Given the description of an element on the screen output the (x, y) to click on. 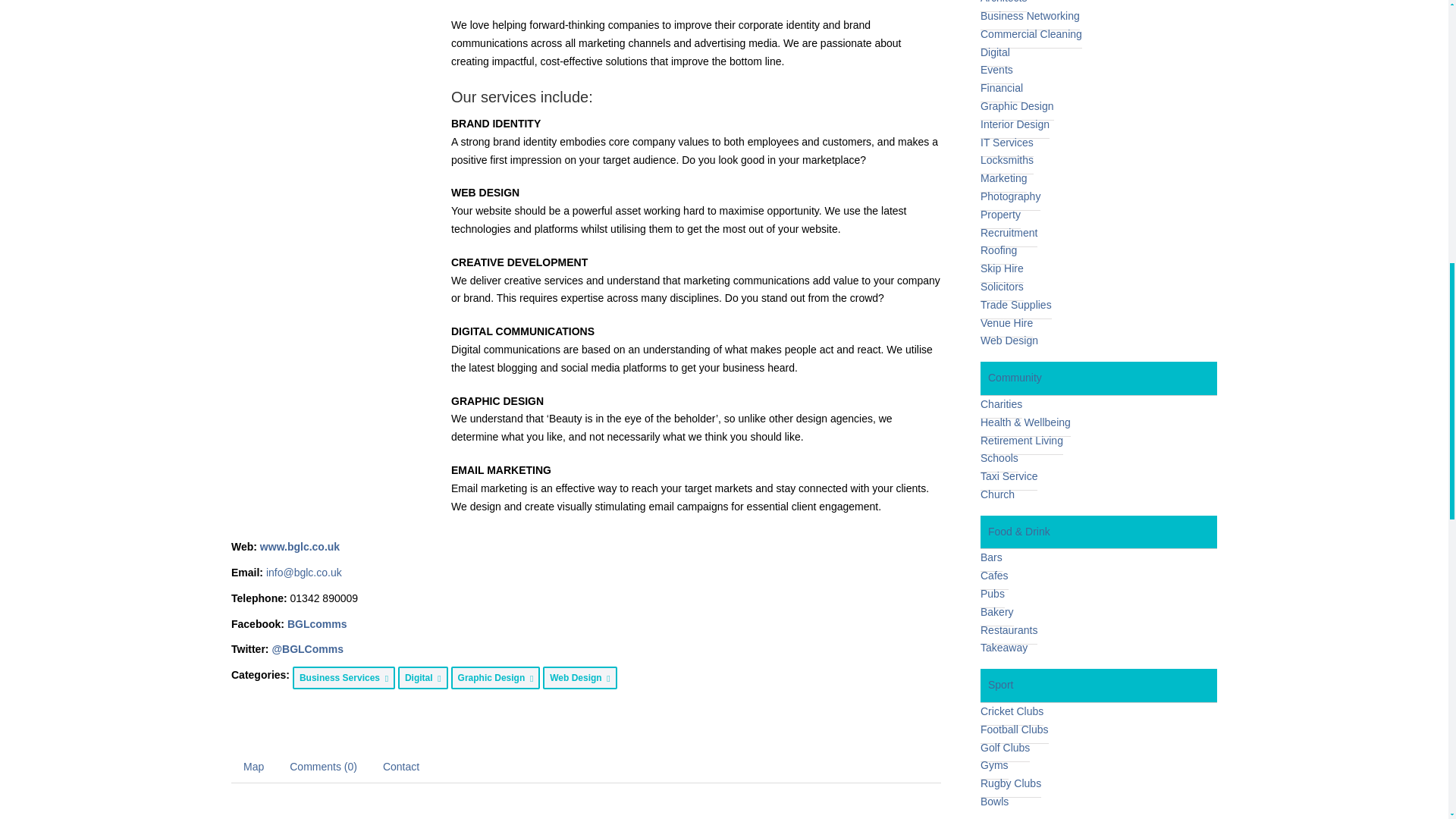
BGLcomms (316, 623)
Map (253, 766)
Business Services   (343, 676)
Web Design   (580, 676)
www.bglc.co.uk (299, 546)
Graphic Design   (495, 676)
Digital   (422, 676)
